Given the description of an element on the screen output the (x, y) to click on. 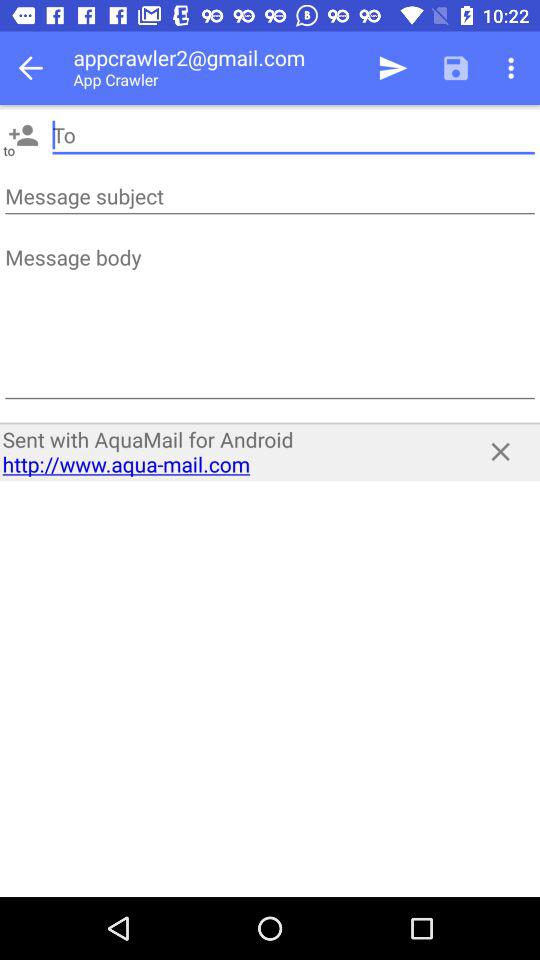
select icon on the right (500, 451)
